Given the description of an element on the screen output the (x, y) to click on. 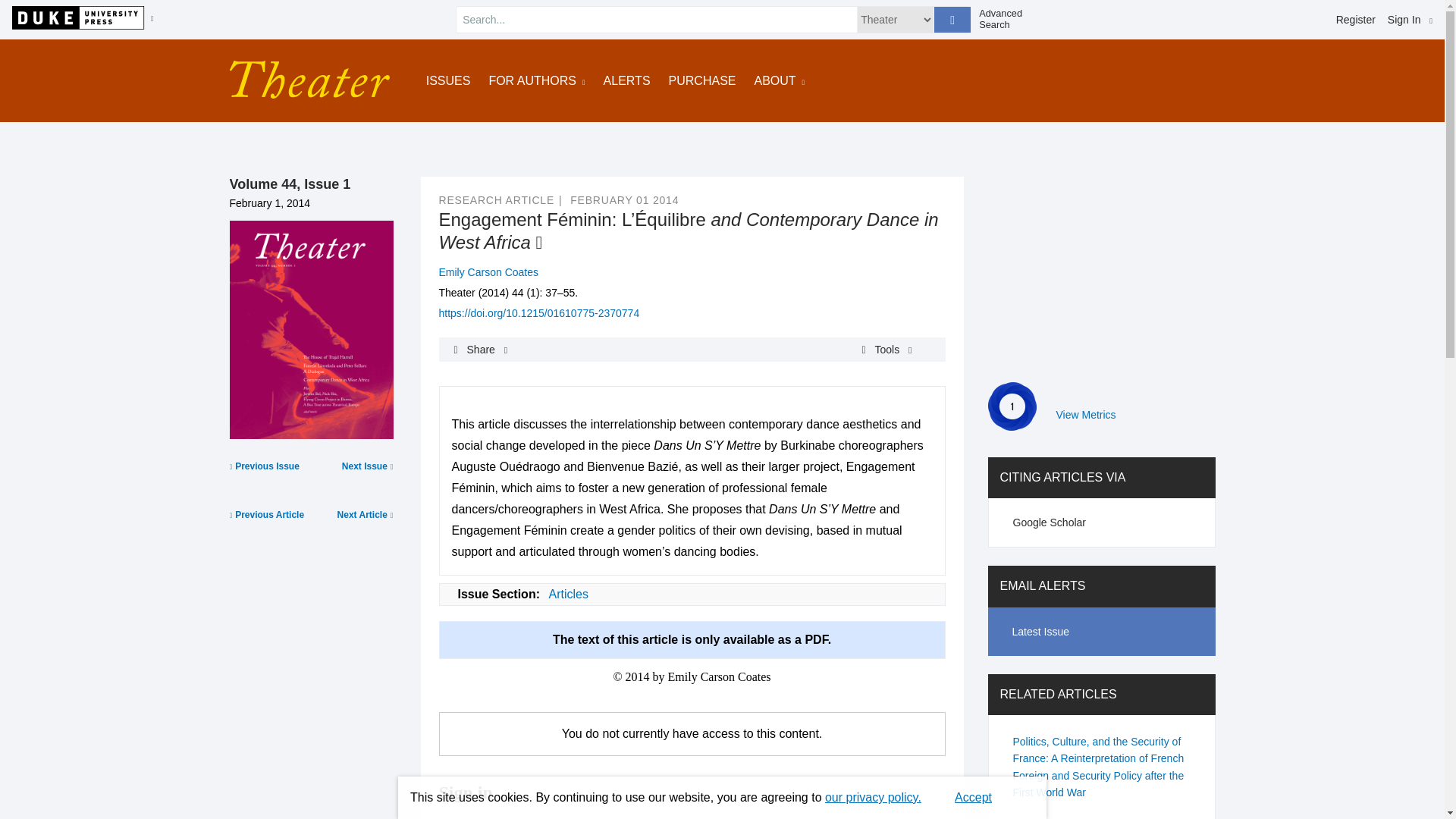
Advanced Search (1005, 19)
PURCHASE (702, 80)
search input (657, 19)
ISSUES (448, 80)
ALERTS (627, 80)
Register (1355, 19)
Sign In (1409, 19)
FOR AUTHORS (536, 80)
